Given the description of an element on the screen output the (x, y) to click on. 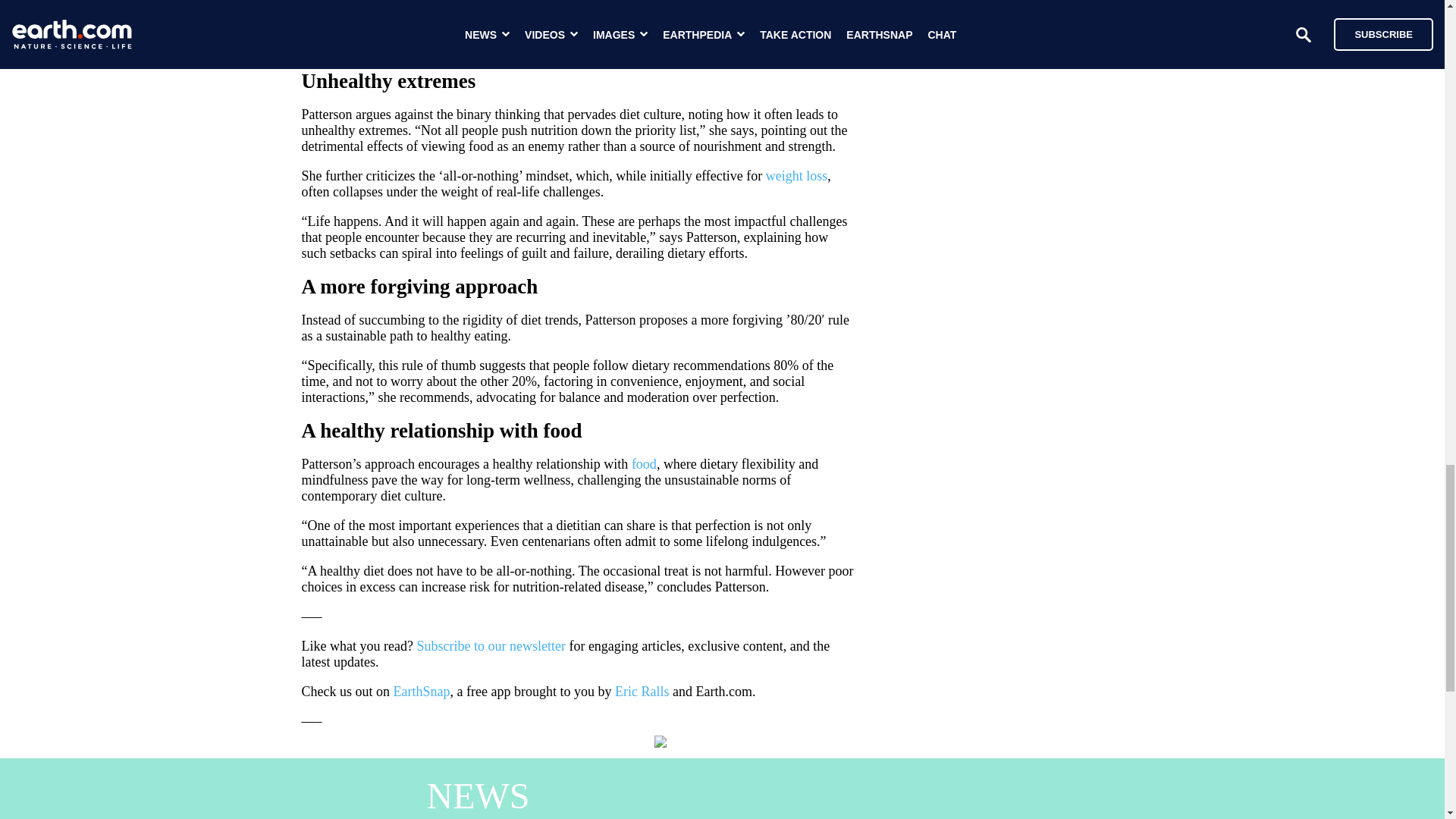
EarthSnap (421, 691)
Subscribe to our newsletter (490, 645)
food (643, 463)
weight loss (796, 175)
Eric Ralls (641, 691)
